Given the description of an element on the screen output the (x, y) to click on. 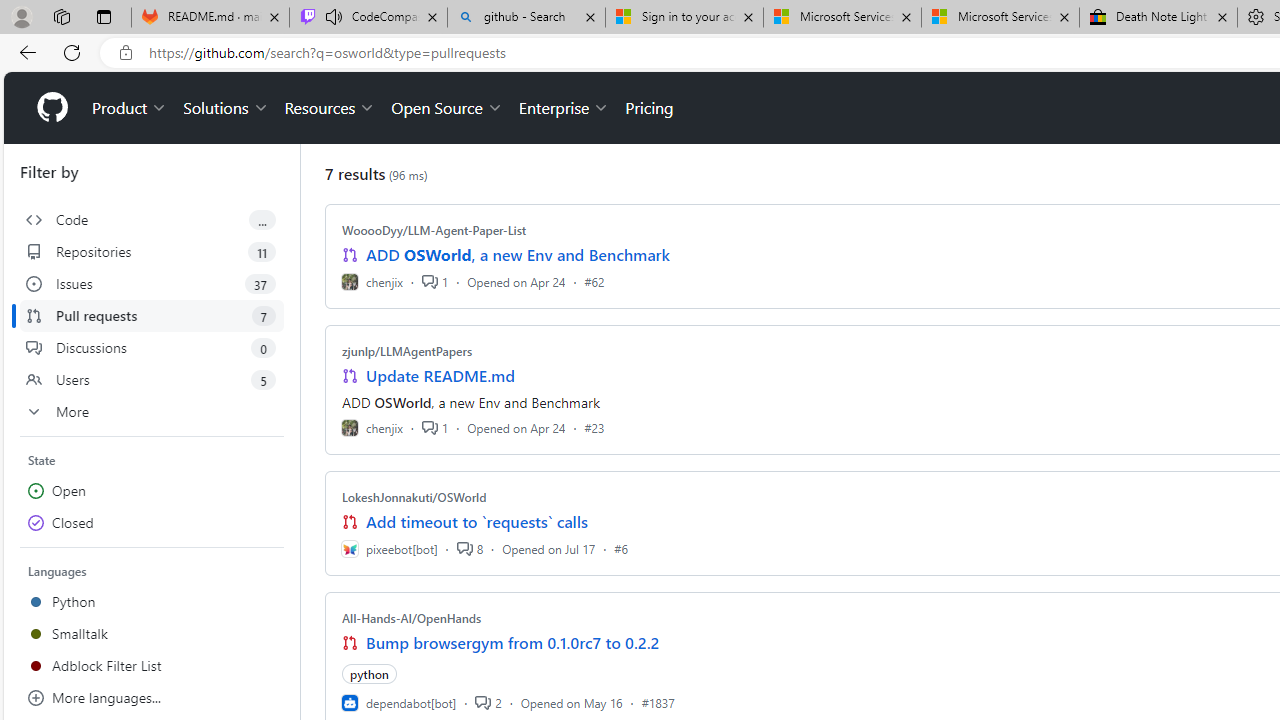
Update README.md (440, 376)
Product (130, 107)
